Given the description of an element on the screen output the (x, y) to click on. 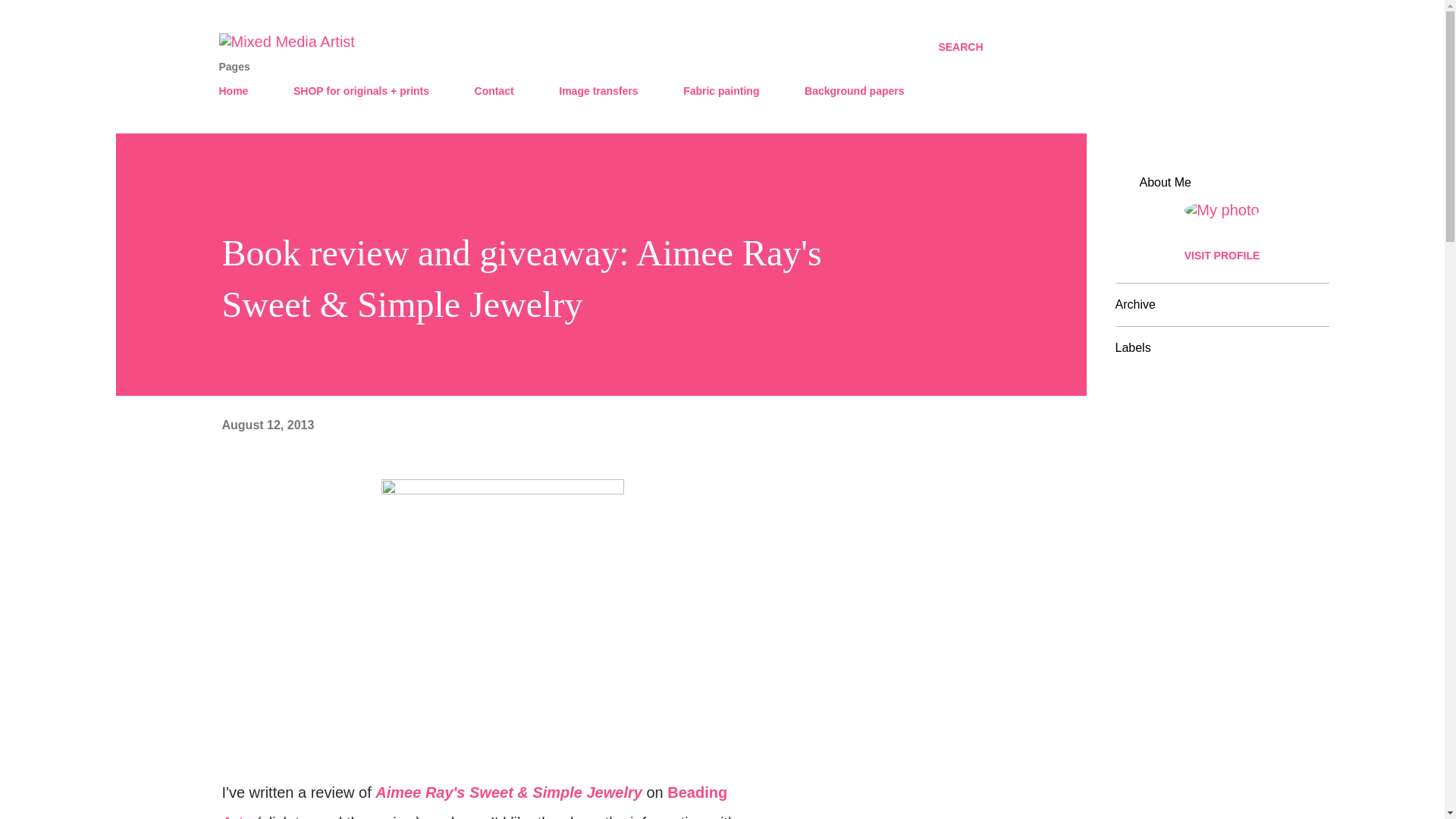
Contact (493, 91)
Image transfers (598, 91)
Beading Arts (473, 801)
Home (237, 91)
August 12, 2013 (267, 424)
SEARCH (959, 46)
Fabric painting (721, 91)
permanent link (267, 424)
Background papers (853, 91)
